Given the description of an element on the screen output the (x, y) to click on. 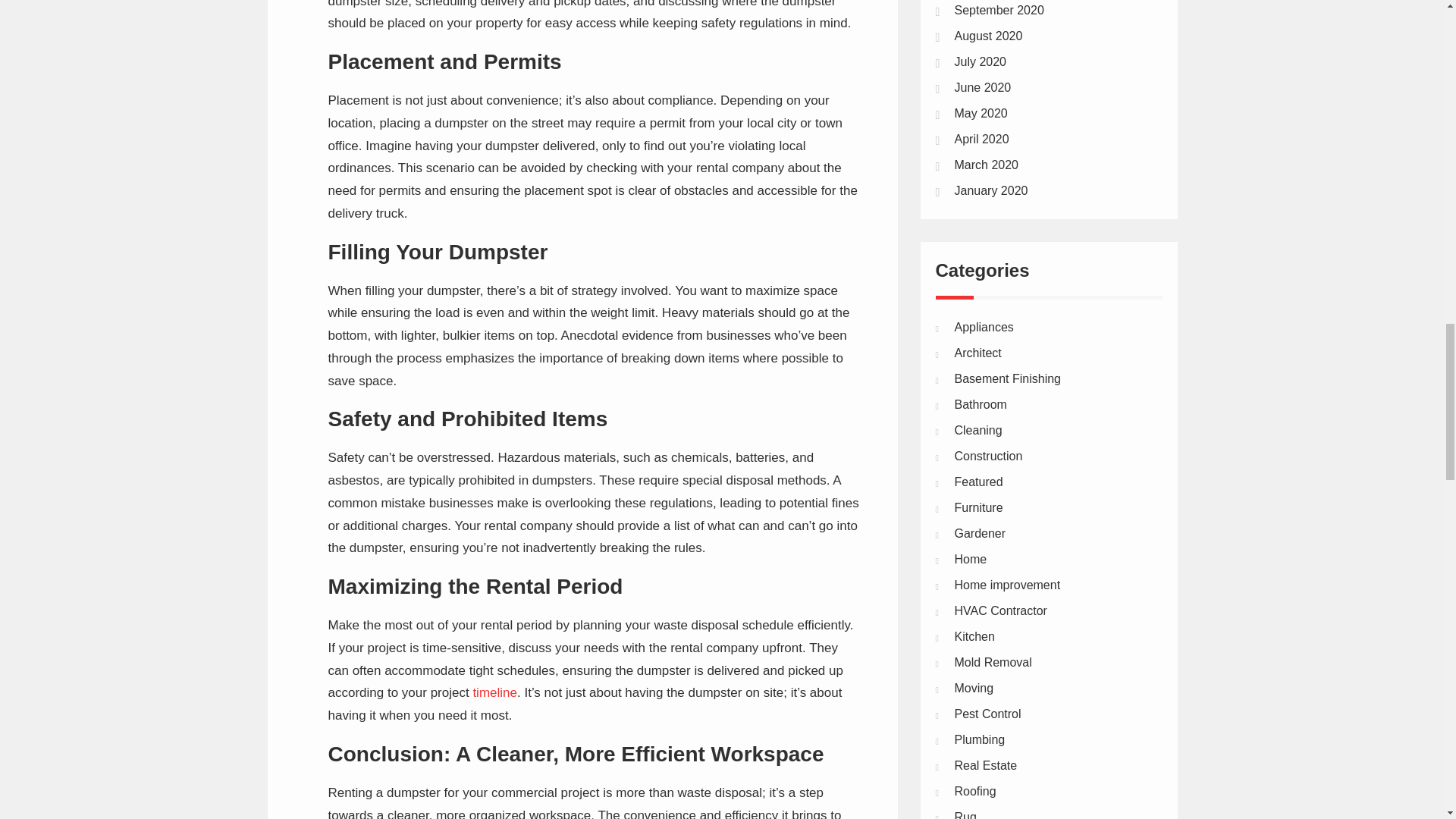
timeline (493, 692)
